Given the description of an element on the screen output the (x, y) to click on. 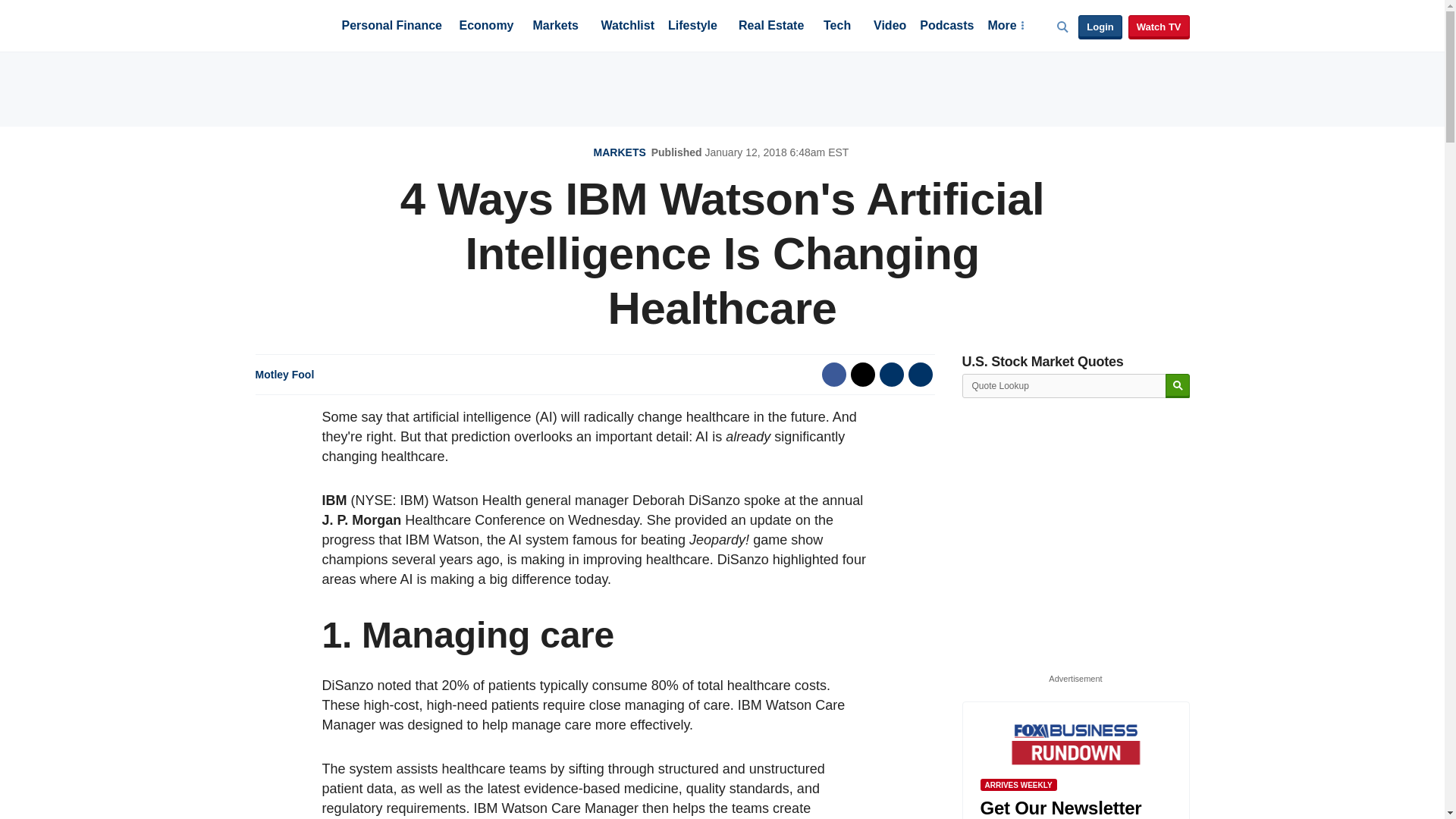
Search (1176, 385)
Watchlist (626, 27)
Podcasts (947, 27)
Search (1176, 385)
Real Estate (770, 27)
Economy (486, 27)
Video (889, 27)
Tech (837, 27)
More (1005, 27)
Personal Finance (391, 27)
